Given the description of an element on the screen output the (x, y) to click on. 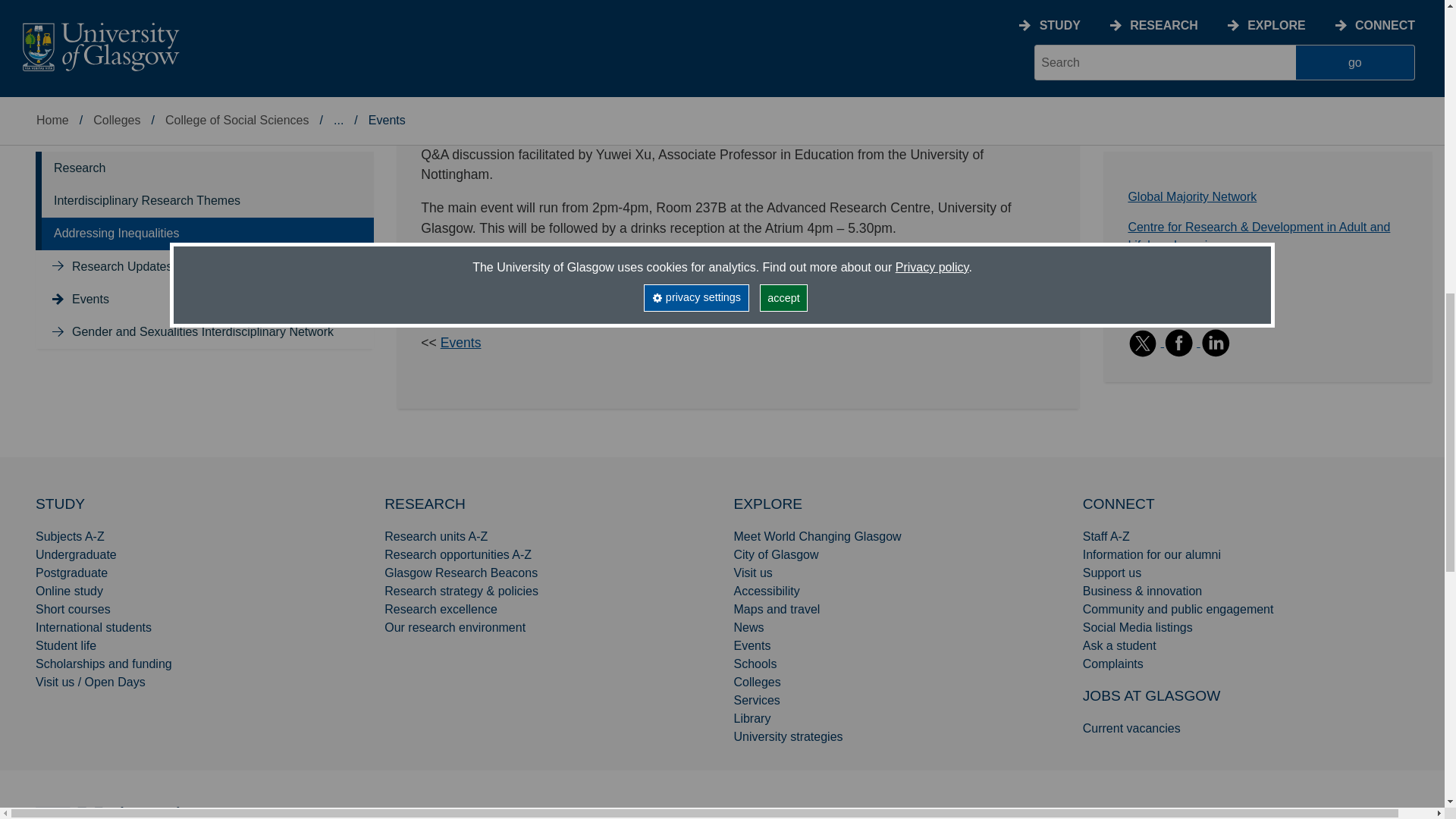
Anna Clover (696, 261)
Events (461, 342)
Eventbrite (564, 261)
